Given the description of an element on the screen output the (x, y) to click on. 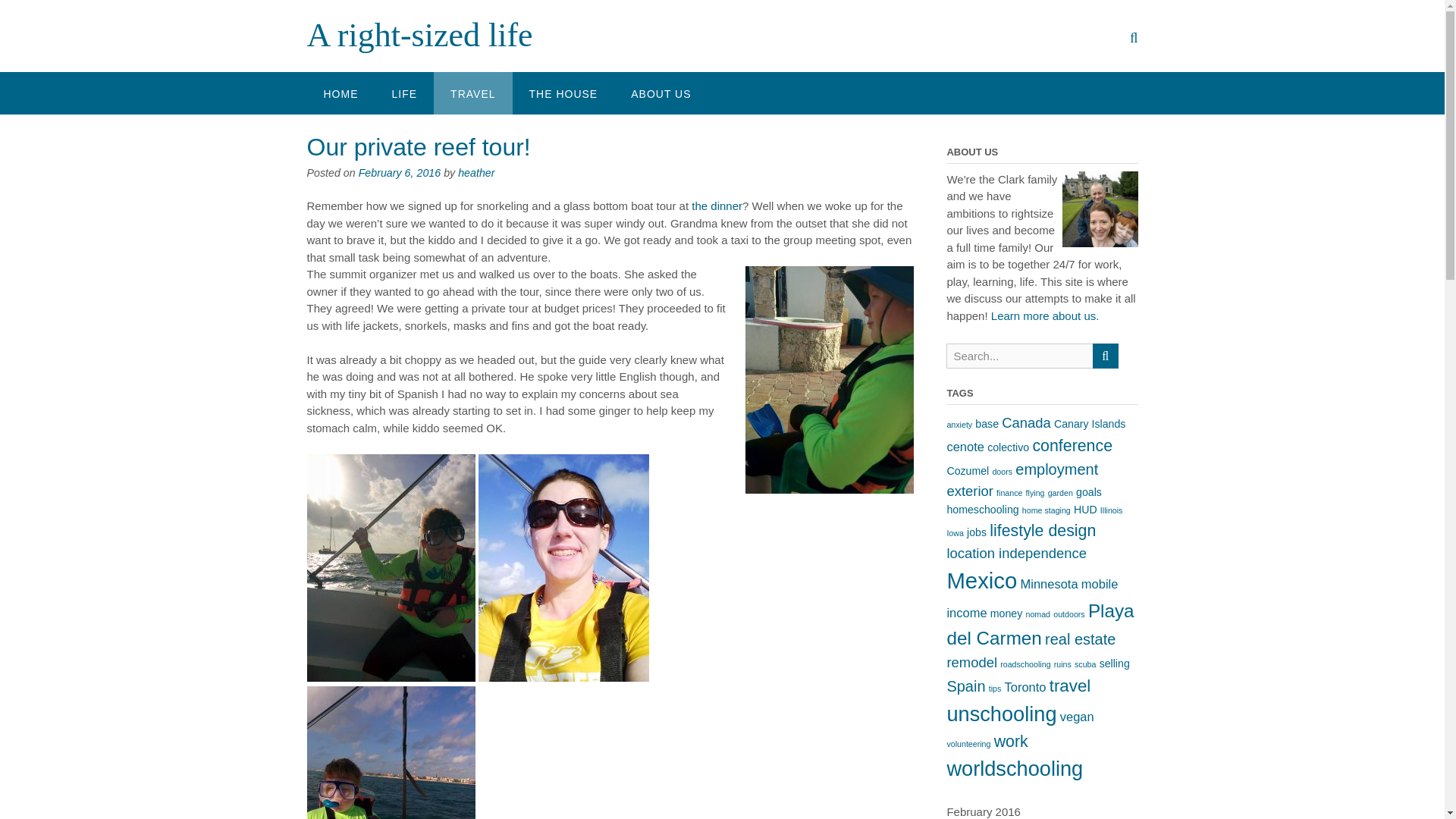
garden (1060, 492)
doors (1001, 470)
exterior (969, 490)
HOME (339, 92)
A right-sized life (418, 35)
homeschooling (981, 509)
Canary Islands (1089, 423)
employment (1055, 469)
cenote (965, 446)
Canada (1026, 422)
home staging (1046, 510)
base (986, 423)
LIFE (403, 92)
heather (476, 173)
HUD (1085, 509)
